Given the description of an element on the screen output the (x, y) to click on. 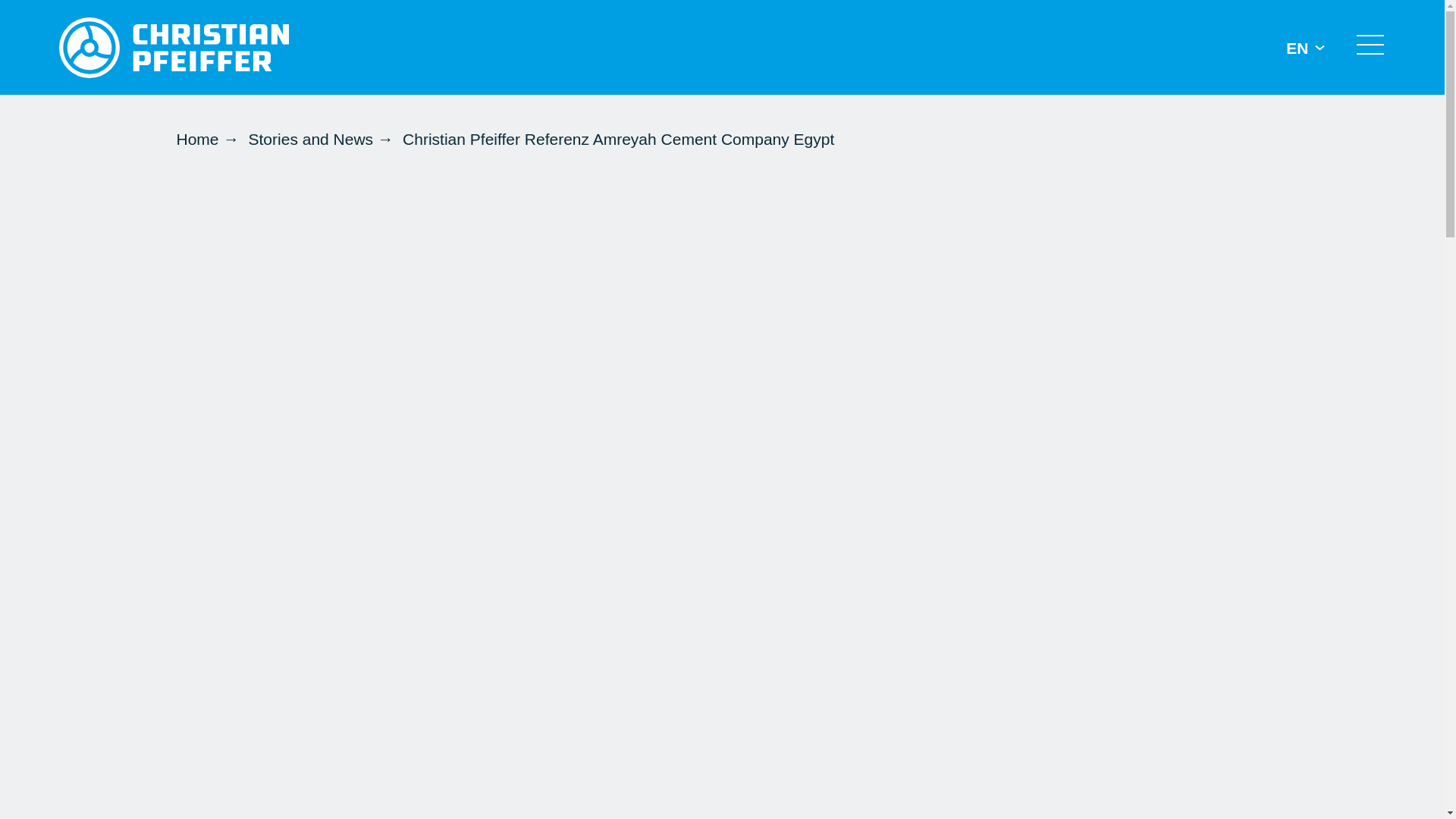
To the home page (173, 46)
